Given the description of an element on the screen output the (x, y) to click on. 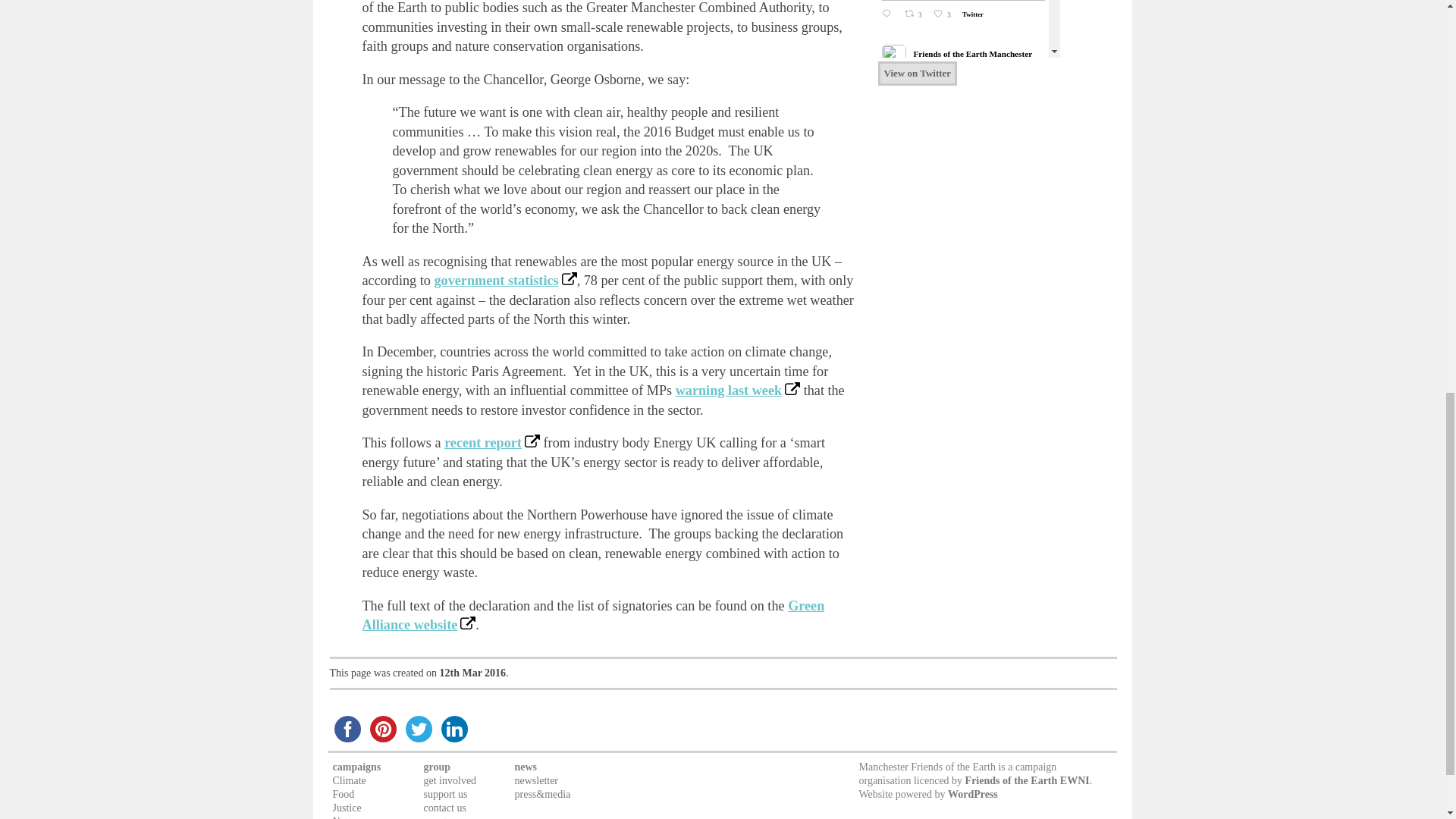
facebook (347, 728)
pinterest (383, 728)
linkedin (453, 728)
twitter (417, 728)
